Given the description of an element on the screen output the (x, y) to click on. 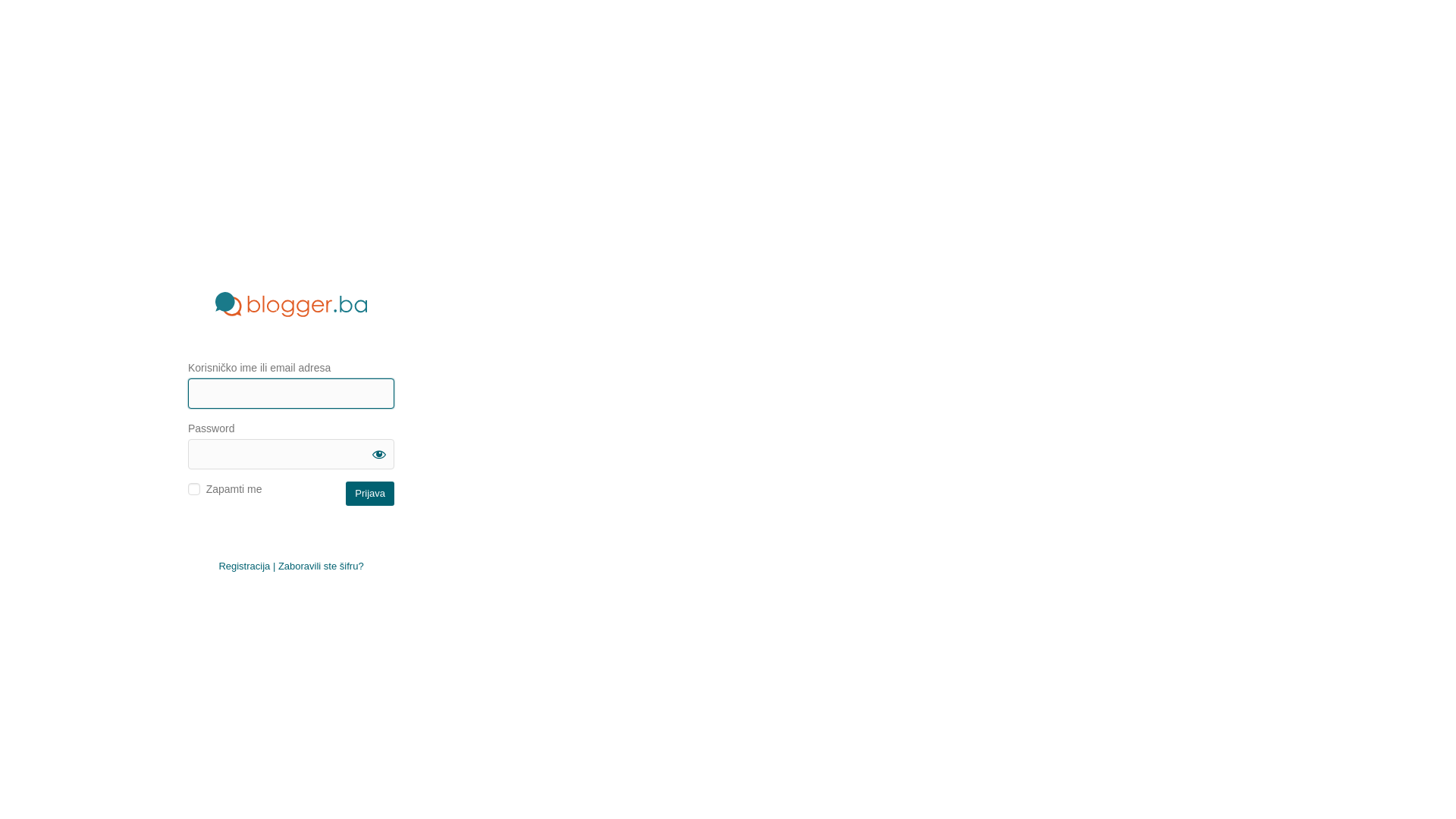
Prijava Element type: text (369, 493)
Registracija Element type: text (243, 565)
